Given the description of an element on the screen output the (x, y) to click on. 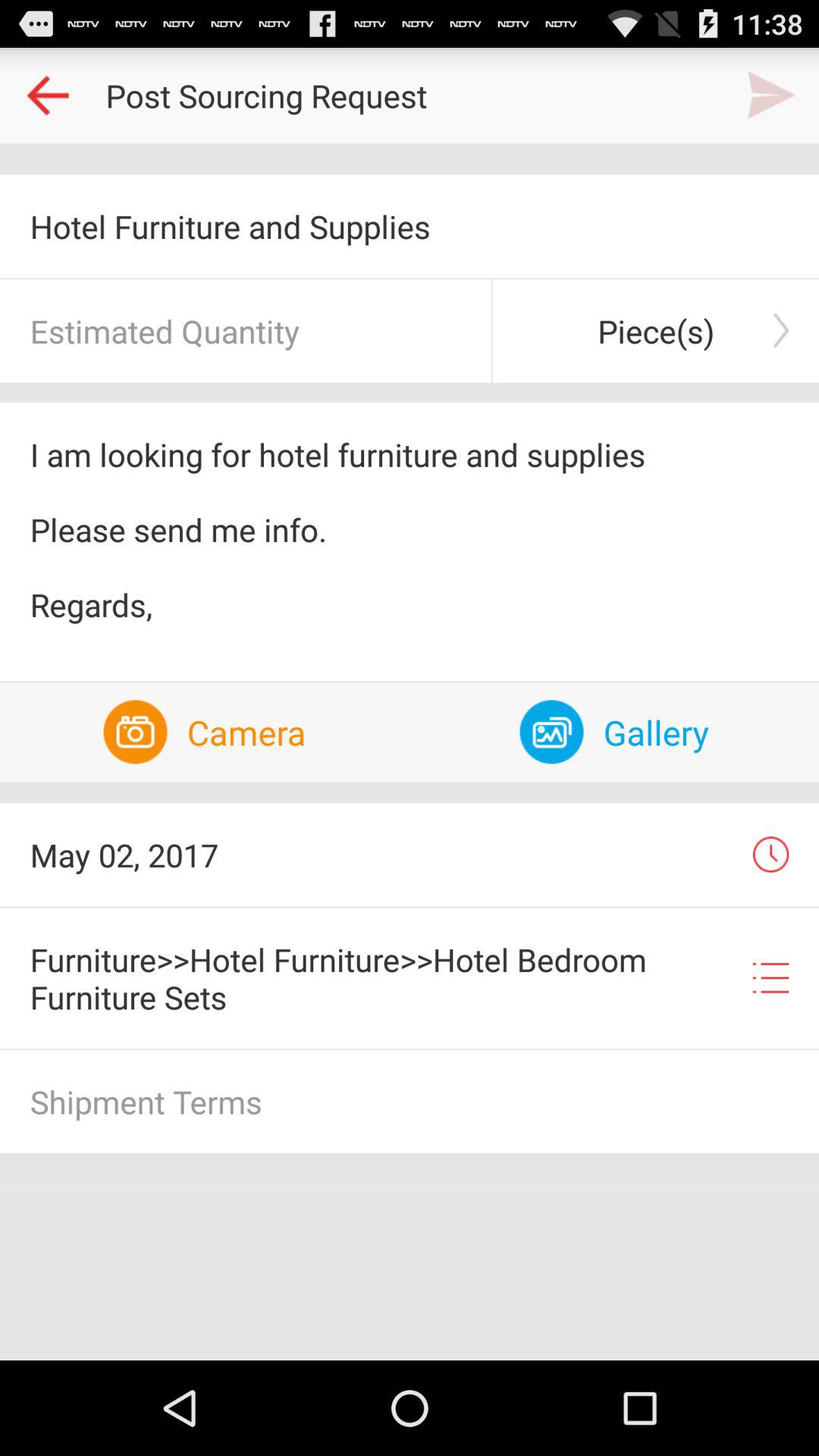
shipment items (409, 1101)
